Given the description of an element on the screen output the (x, y) to click on. 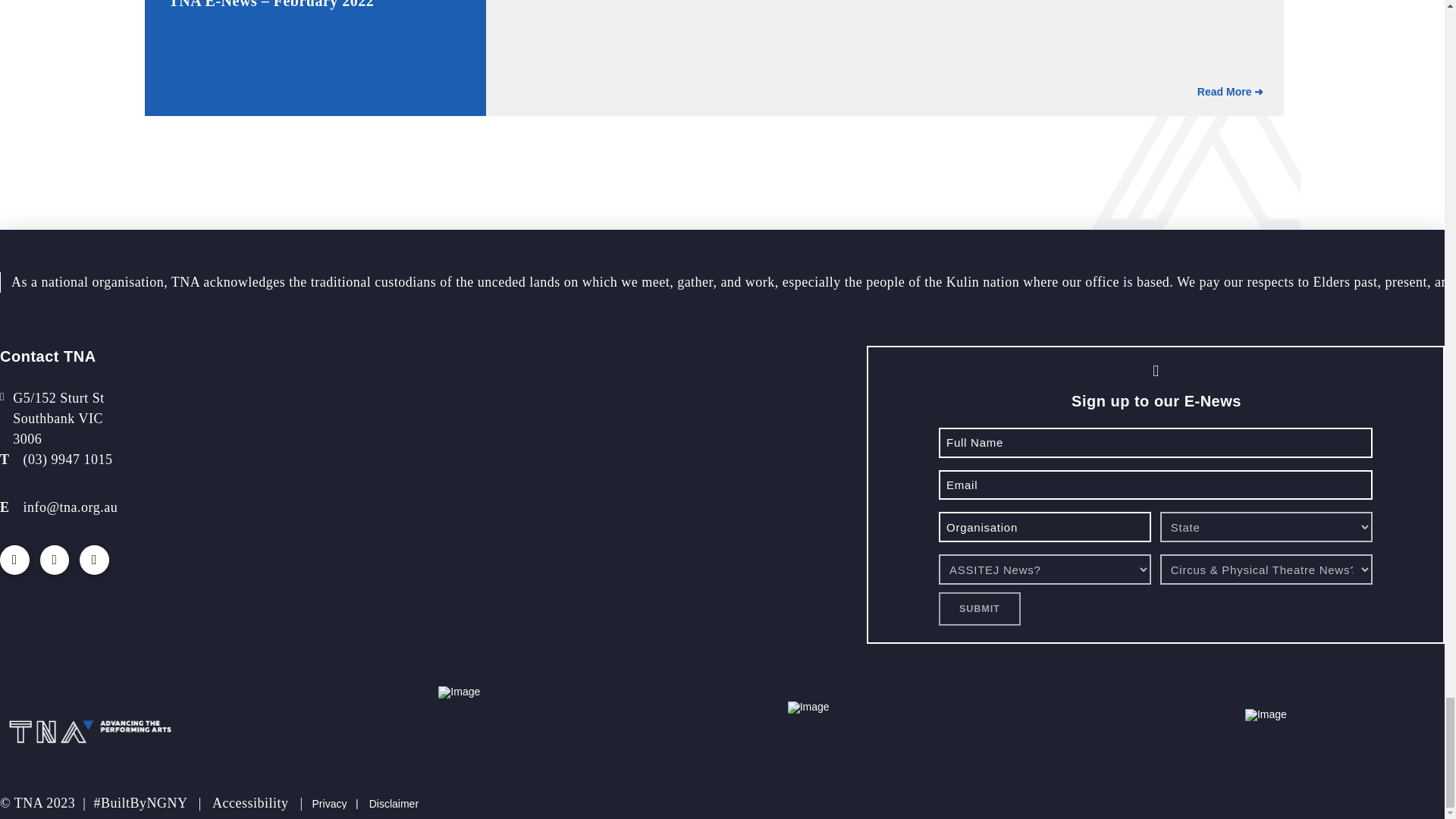
Submit (979, 608)
Read More (1230, 92)
